Given the description of an element on the screen output the (x, y) to click on. 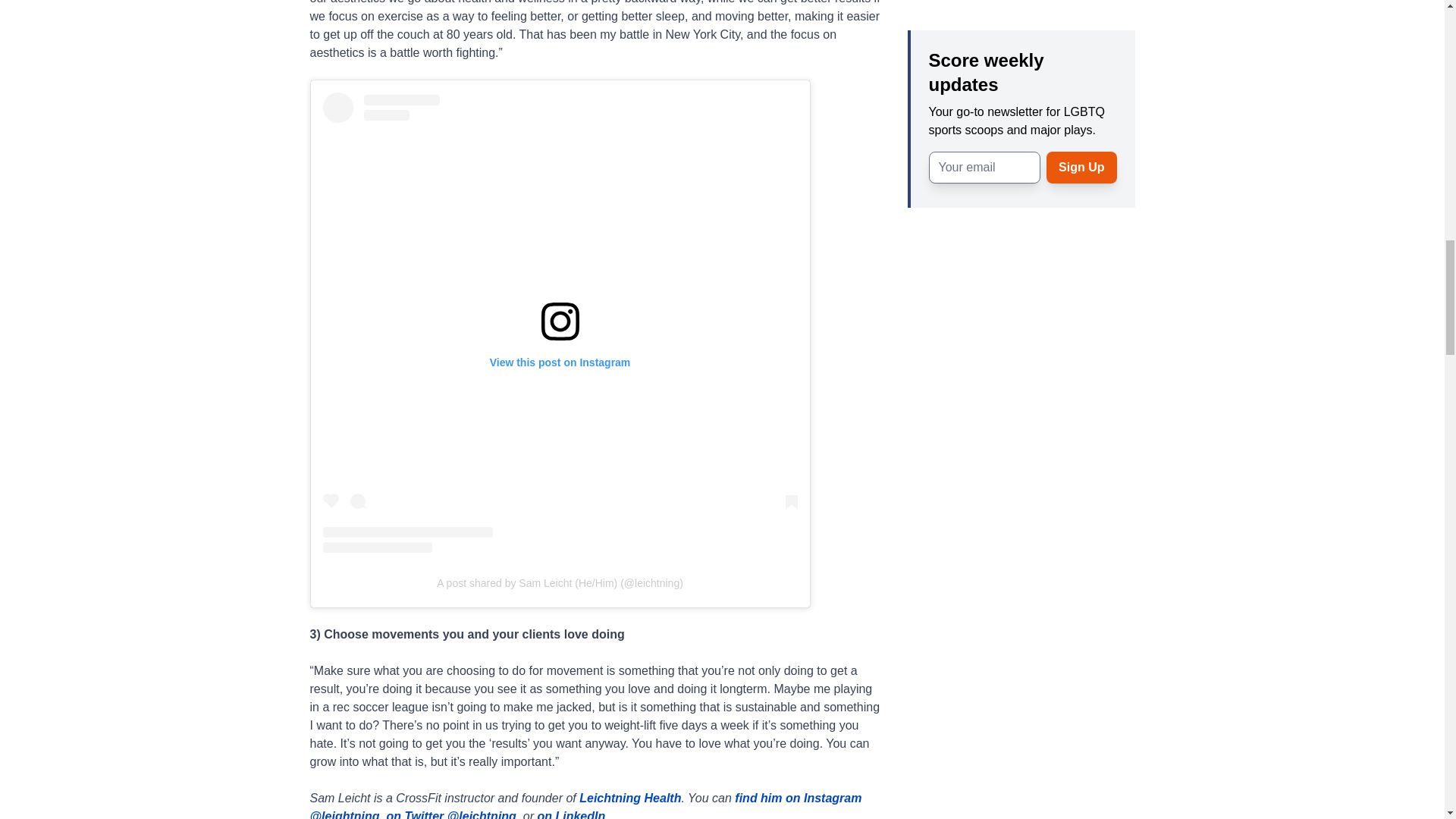
on LinkedIn (571, 814)
Leichtning Health (630, 797)
Sign Up (1081, 34)
